Given the description of an element on the screen output the (x, y) to click on. 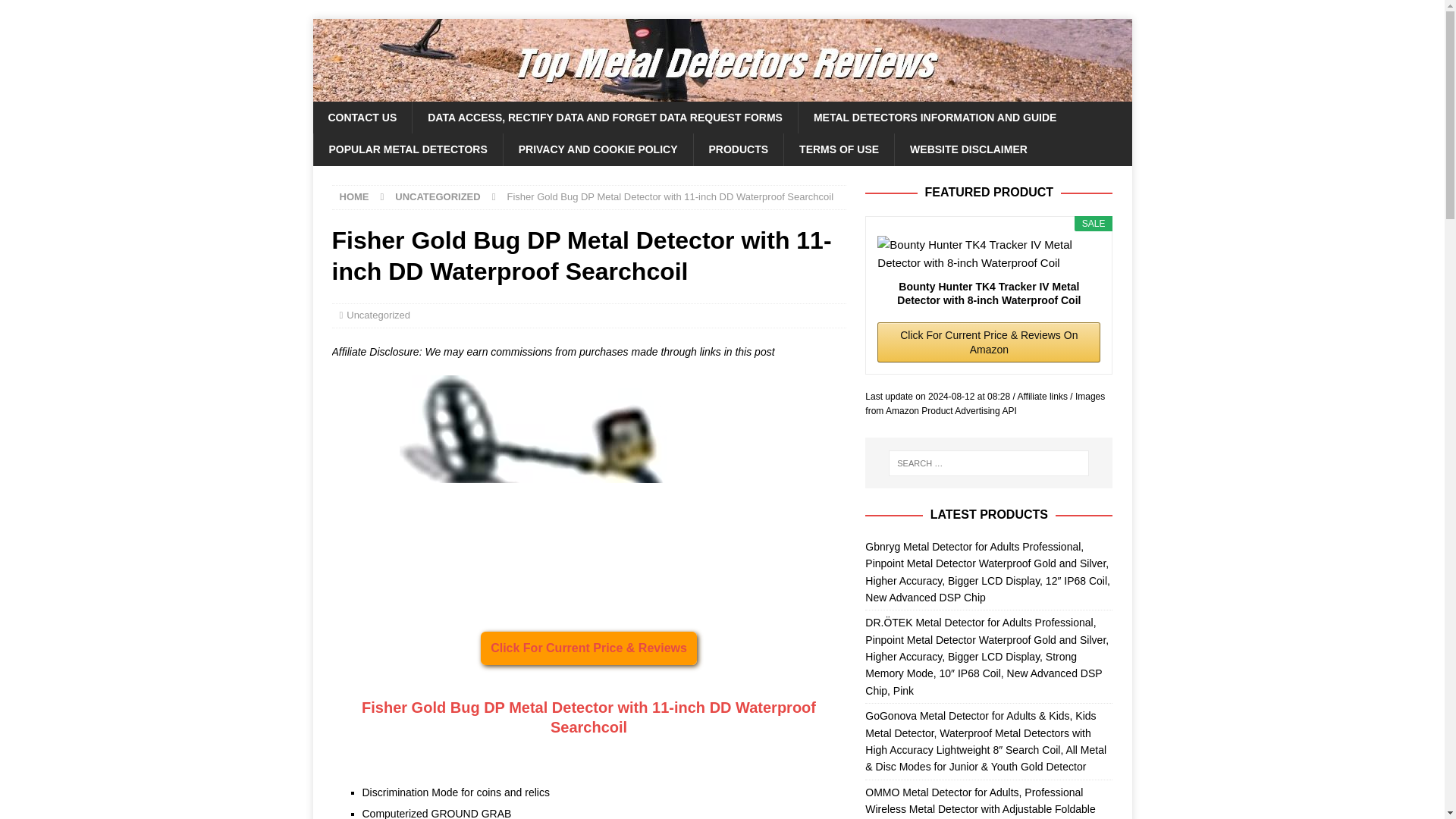
DATA ACCESS, RECTIFY DATA AND FORGET DATA REQUEST FORMS (604, 117)
Uncategorized  Metal Detectors (588, 487)
WEBSITE DISCLAIMER (967, 149)
Uncategorized (378, 315)
POPULAR METAL DETECTORS (407, 149)
PRODUCTS (738, 149)
CONTACT US (362, 117)
